Given the description of an element on the screen output the (x, y) to click on. 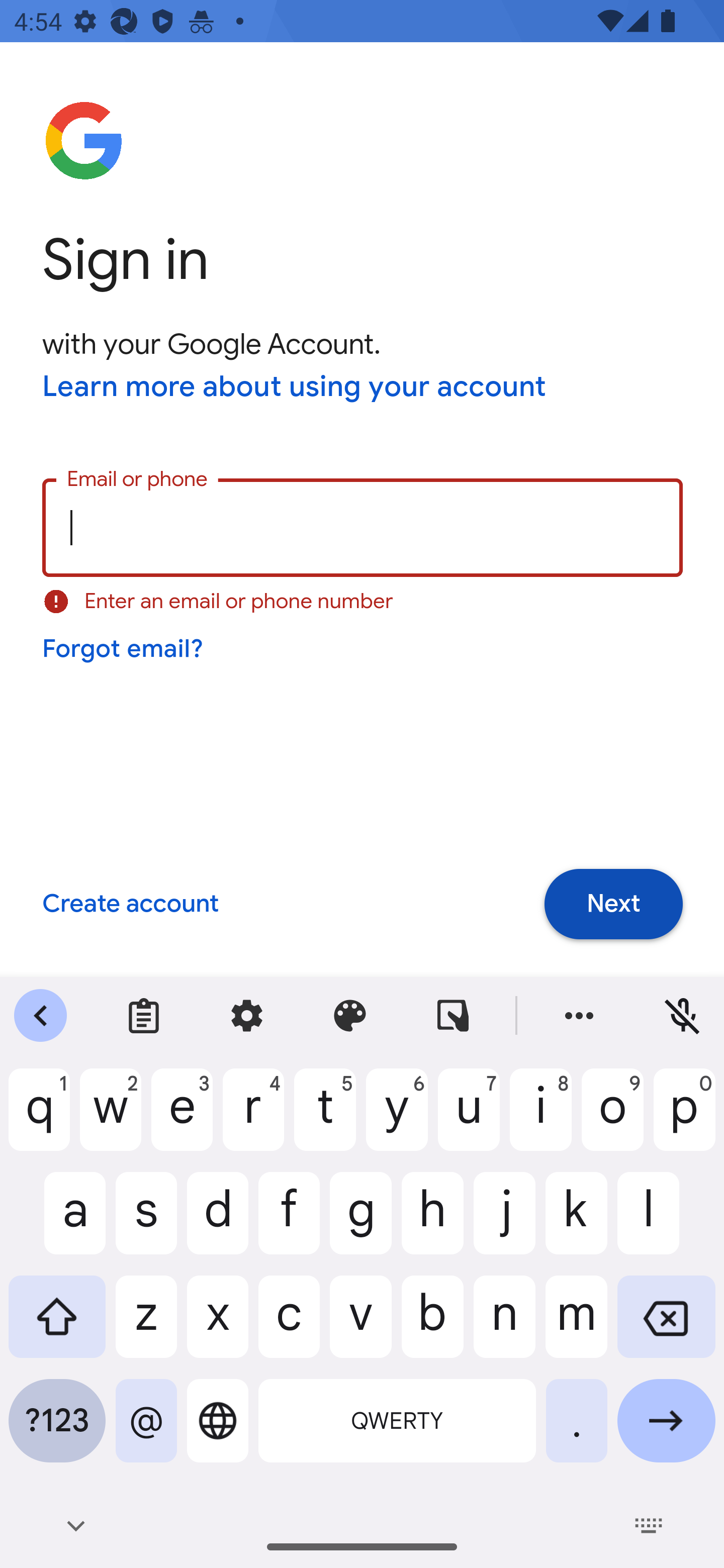
Learn more about using your account (294, 388)
Forgot email? (123, 648)
Next (613, 903)
Create account (129, 904)
